Given the description of an element on the screen output the (x, y) to click on. 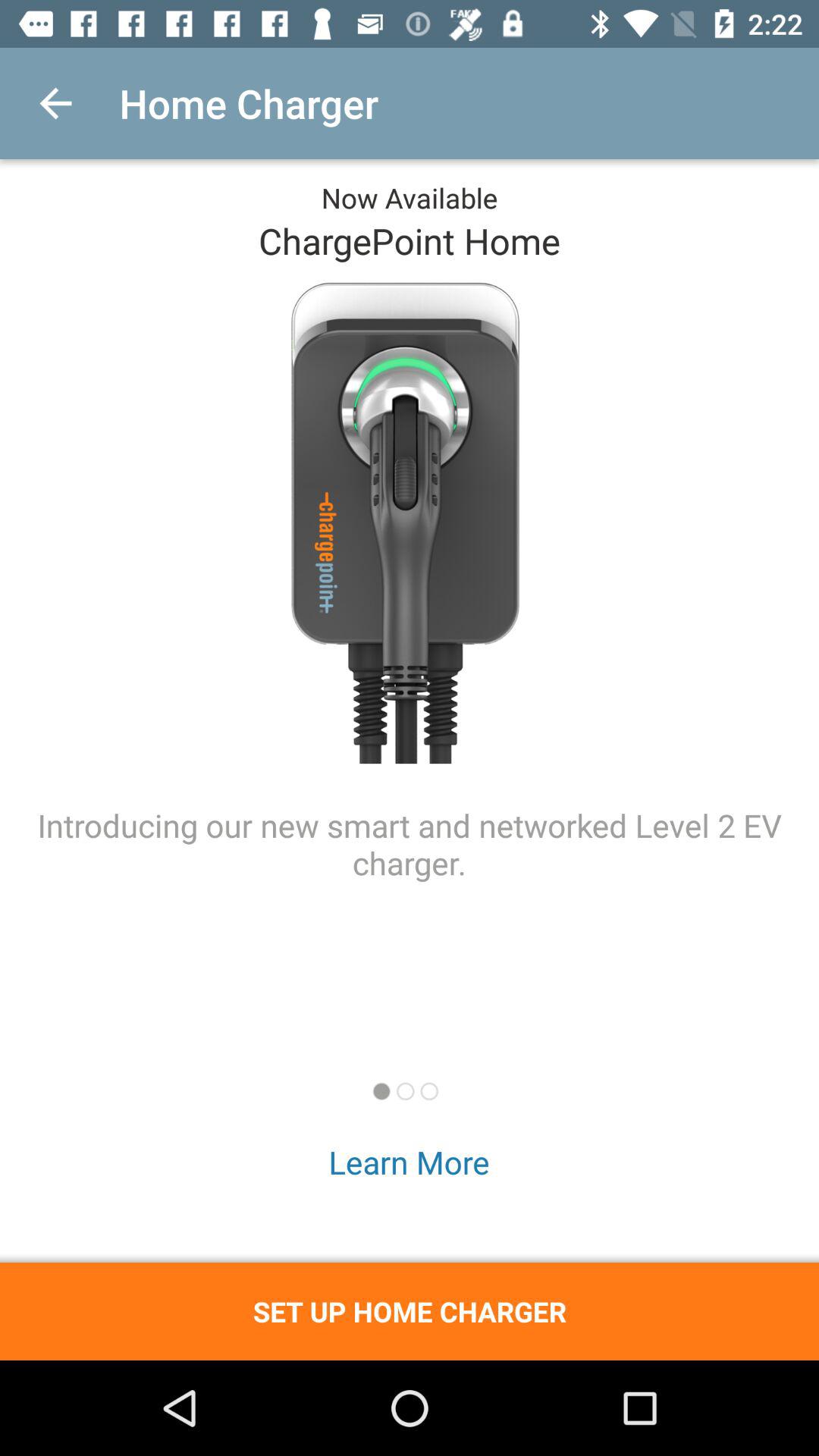
launch item next to home charger (55, 103)
